Given the description of an element on the screen output the (x, y) to click on. 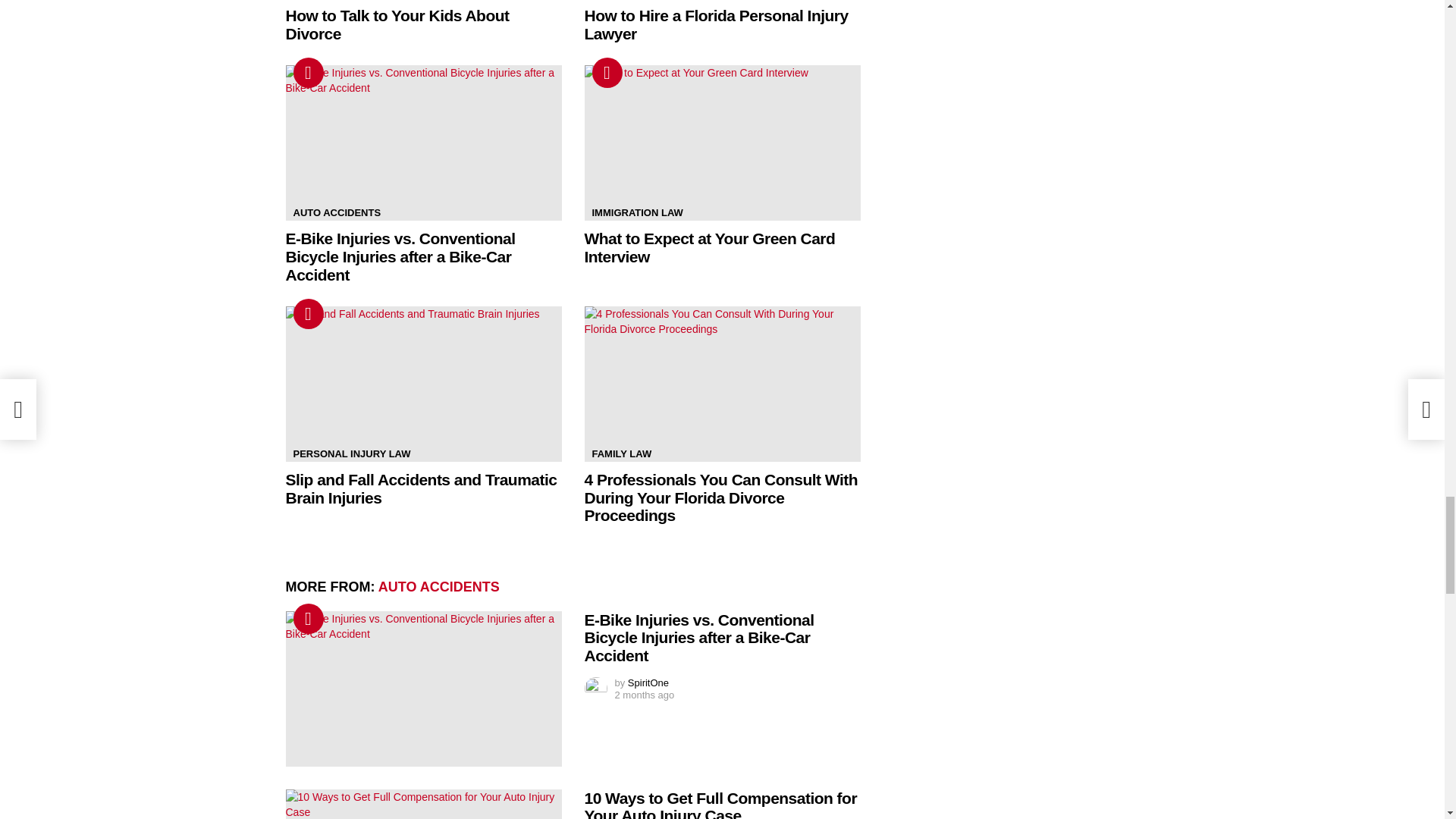
Hot (606, 72)
Hot (307, 72)
What to Expect at Your Green Card Interview (721, 142)
